Given the description of an element on the screen output the (x, y) to click on. 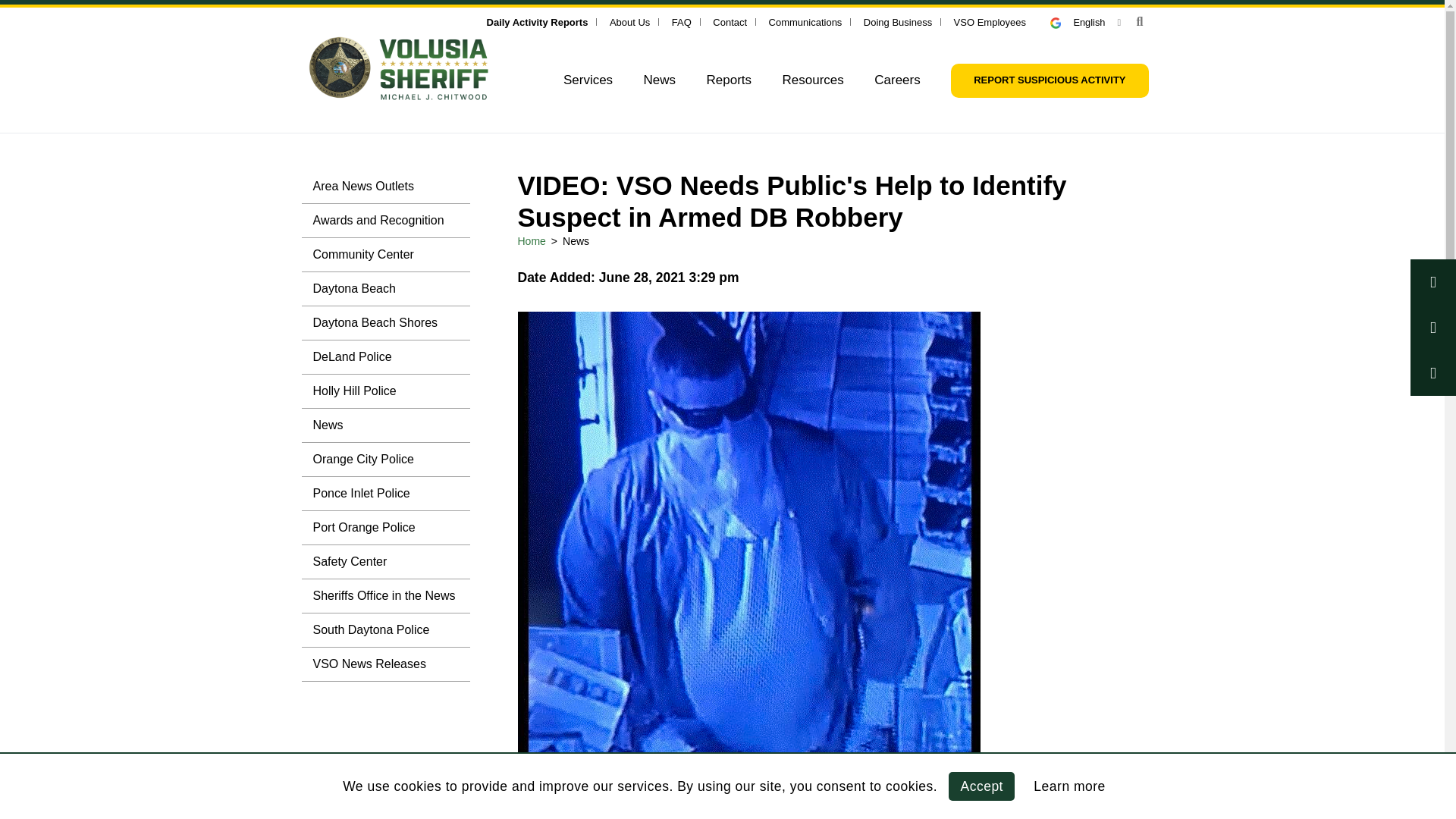
Communications (805, 21)
About Us (629, 21)
Translate (1085, 21)
VSO Employees (989, 21)
Translate (1061, 22)
Doing Business (897, 21)
Contact (729, 21)
FAQ (681, 21)
Daily Activity Reports (537, 21)
English (1085, 21)
